Given the description of an element on the screen output the (x, y) to click on. 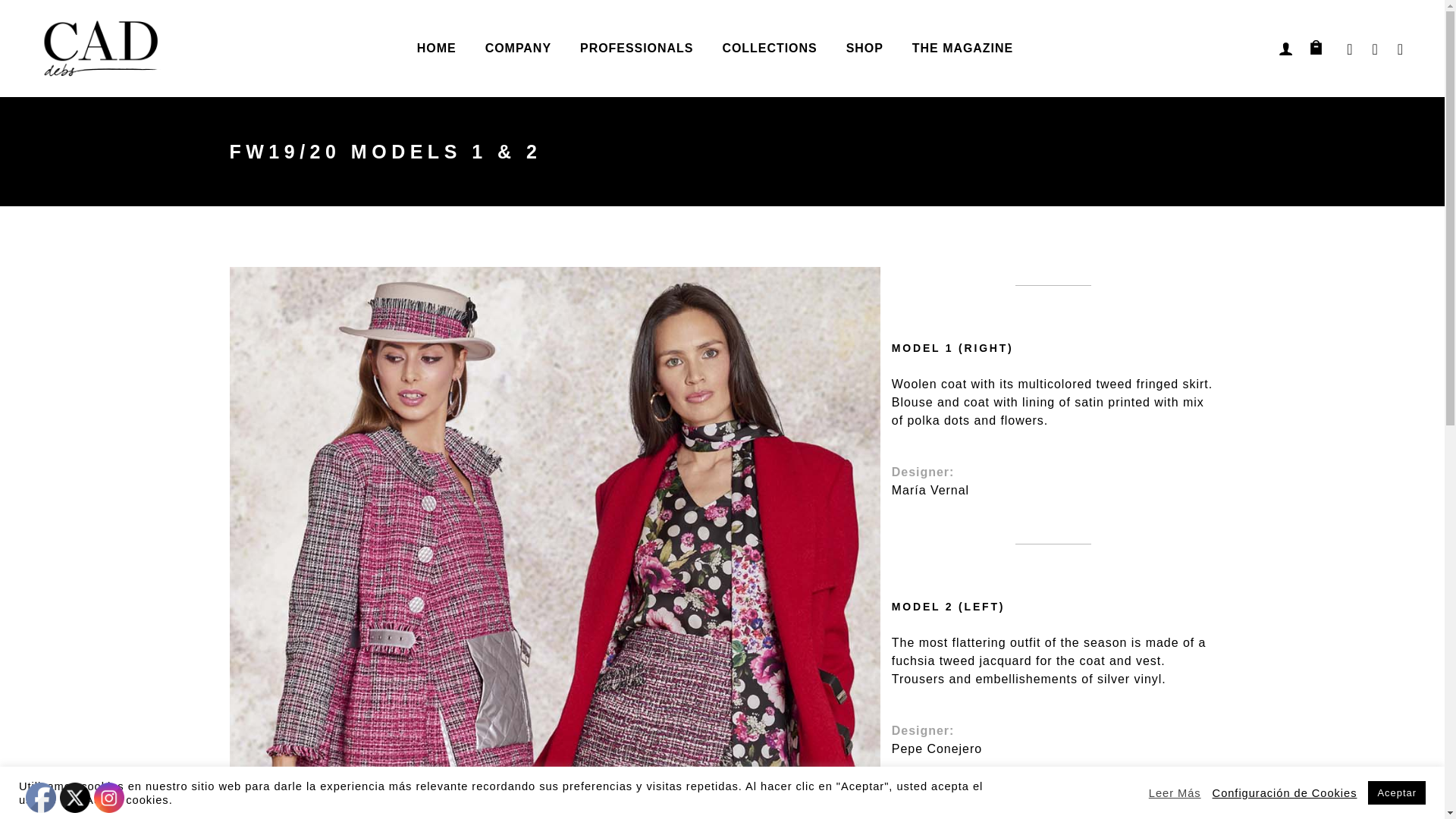
Twitter (74, 797)
Instagram (108, 797)
THE MAGAZINE (962, 48)
COLLECTIONS (769, 48)
PROFESSIONALS (636, 48)
Facebook (41, 797)
